Given the description of an element on the screen output the (x, y) to click on. 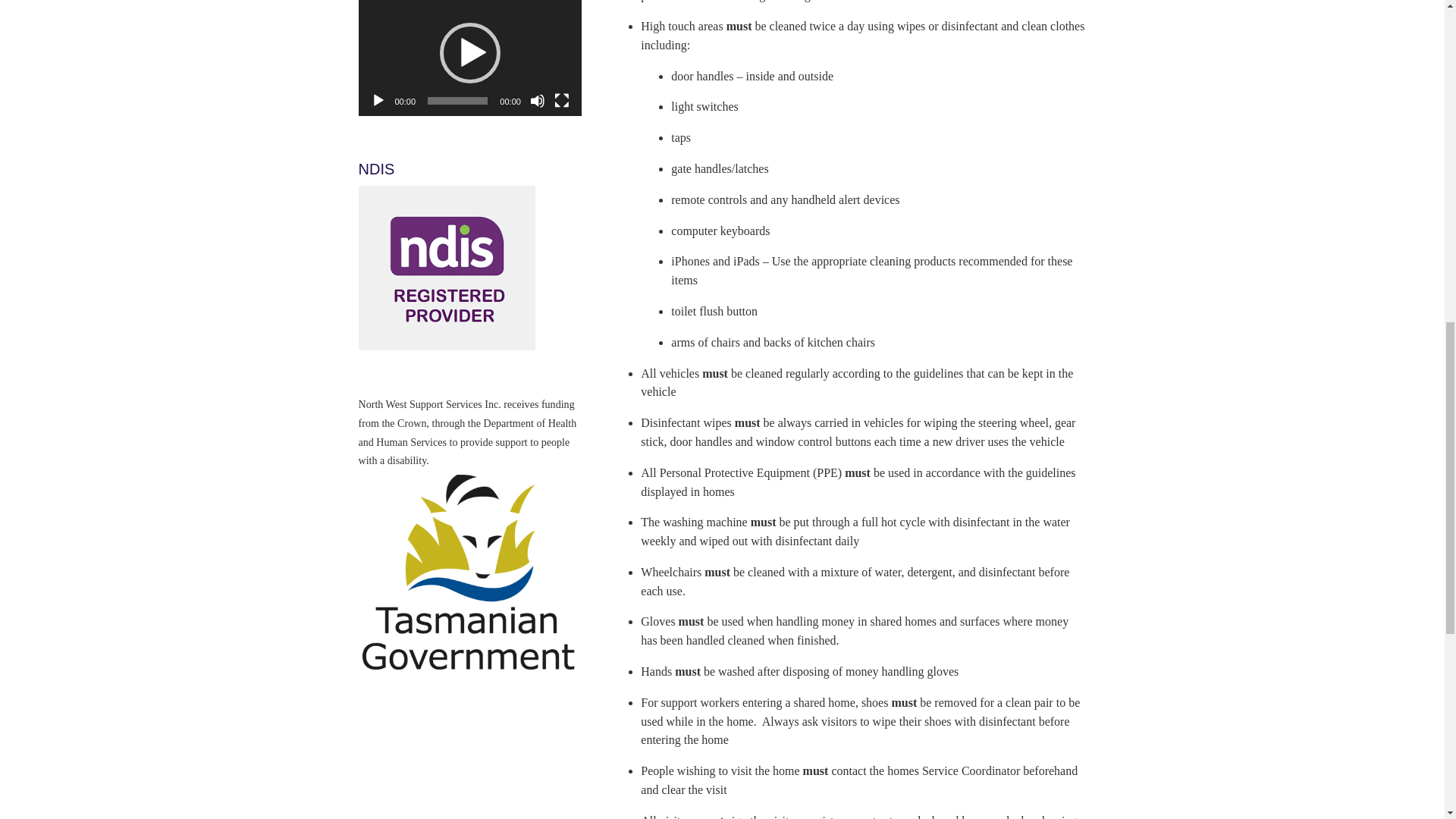
Play (377, 100)
Fullscreen (561, 100)
Mute (536, 100)
